Given the description of an element on the screen output the (x, y) to click on. 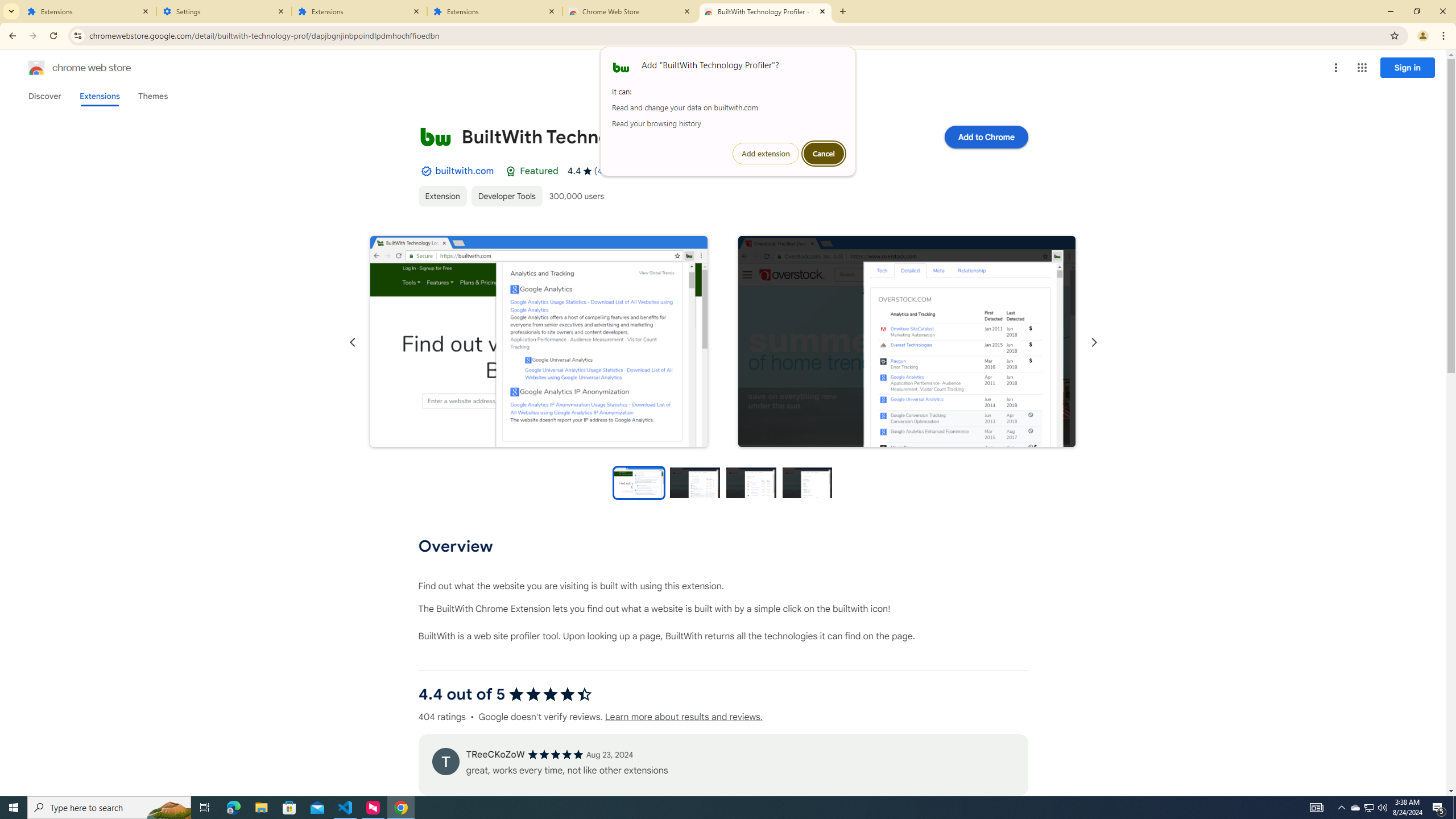
Extensions (88, 11)
Preview slide 1 (637, 482)
Running applications (717, 807)
Settings (224, 11)
Google Chrome - 1 running window (400, 807)
Preview slide 3 (751, 482)
Item media 1 screenshot (538, 342)
Type here to search (108, 807)
More options menu (1335, 67)
Start (13, 807)
